Given the description of an element on the screen output the (x, y) to click on. 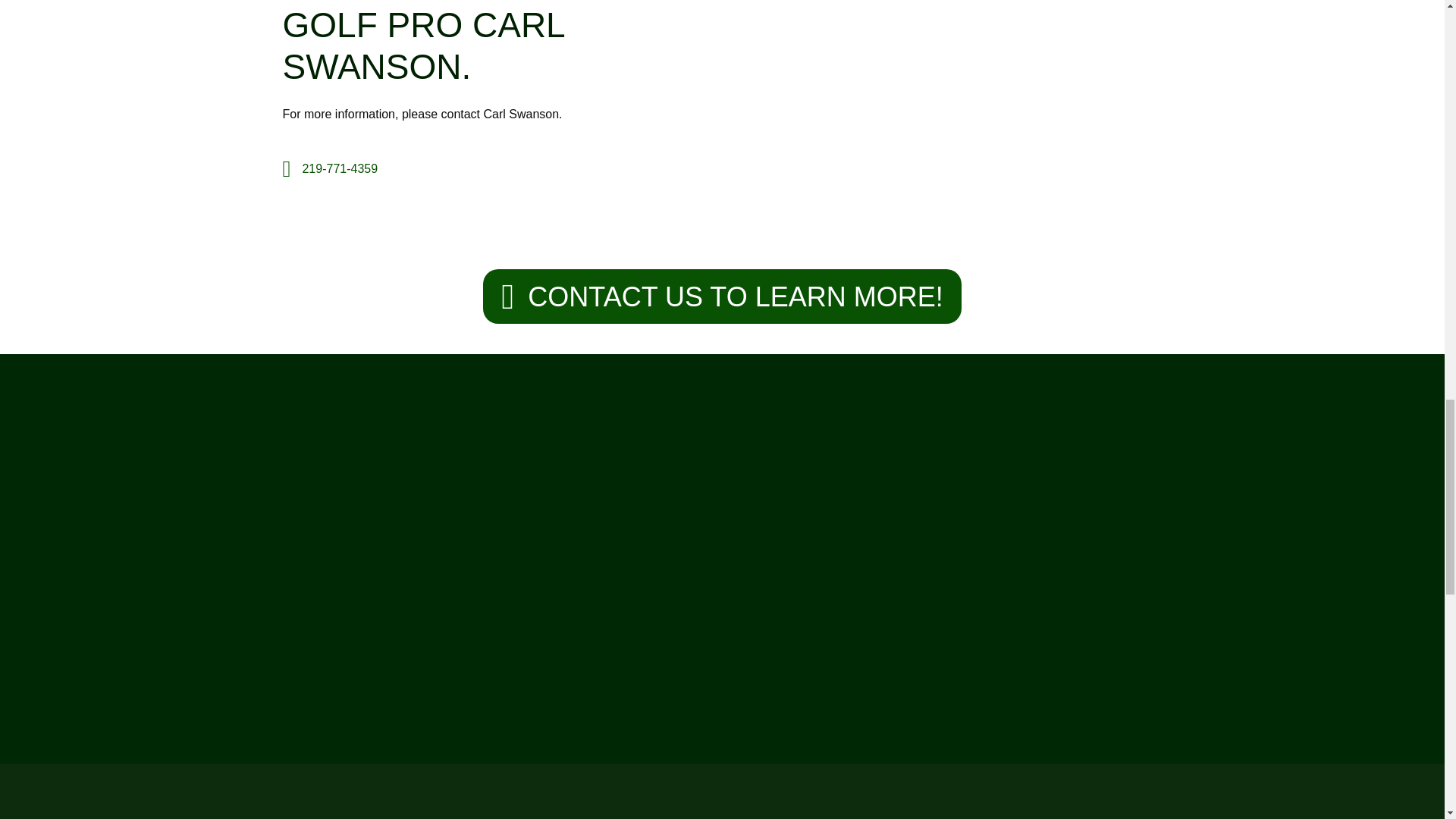
219-771-4359 (339, 169)
CONTACT US TO LEARN MORE! (721, 296)
